Given the description of an element on the screen output the (x, y) to click on. 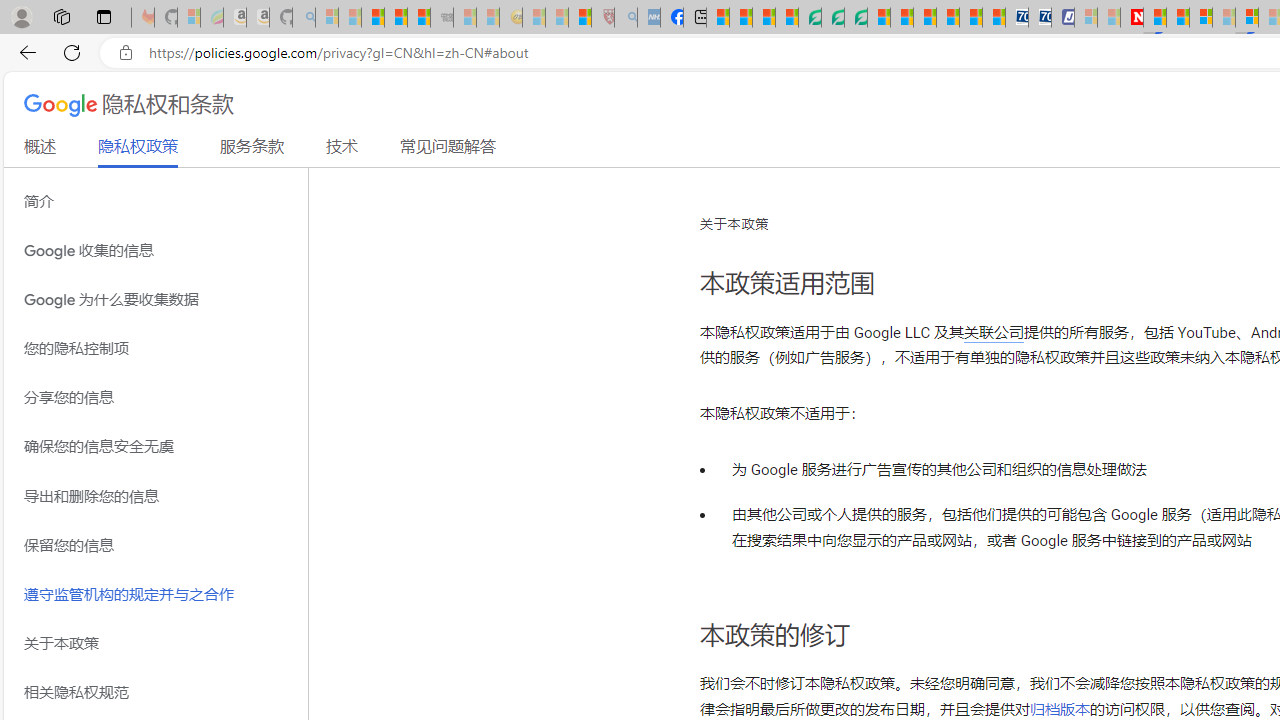
New Report Confirms 2023 Was Record Hot | Watch (419, 17)
Cheap Hotels - Save70.com (1039, 17)
Latest Politics News & Archive | Newsweek.com (1132, 17)
